Given the description of an element on the screen output the (x, y) to click on. 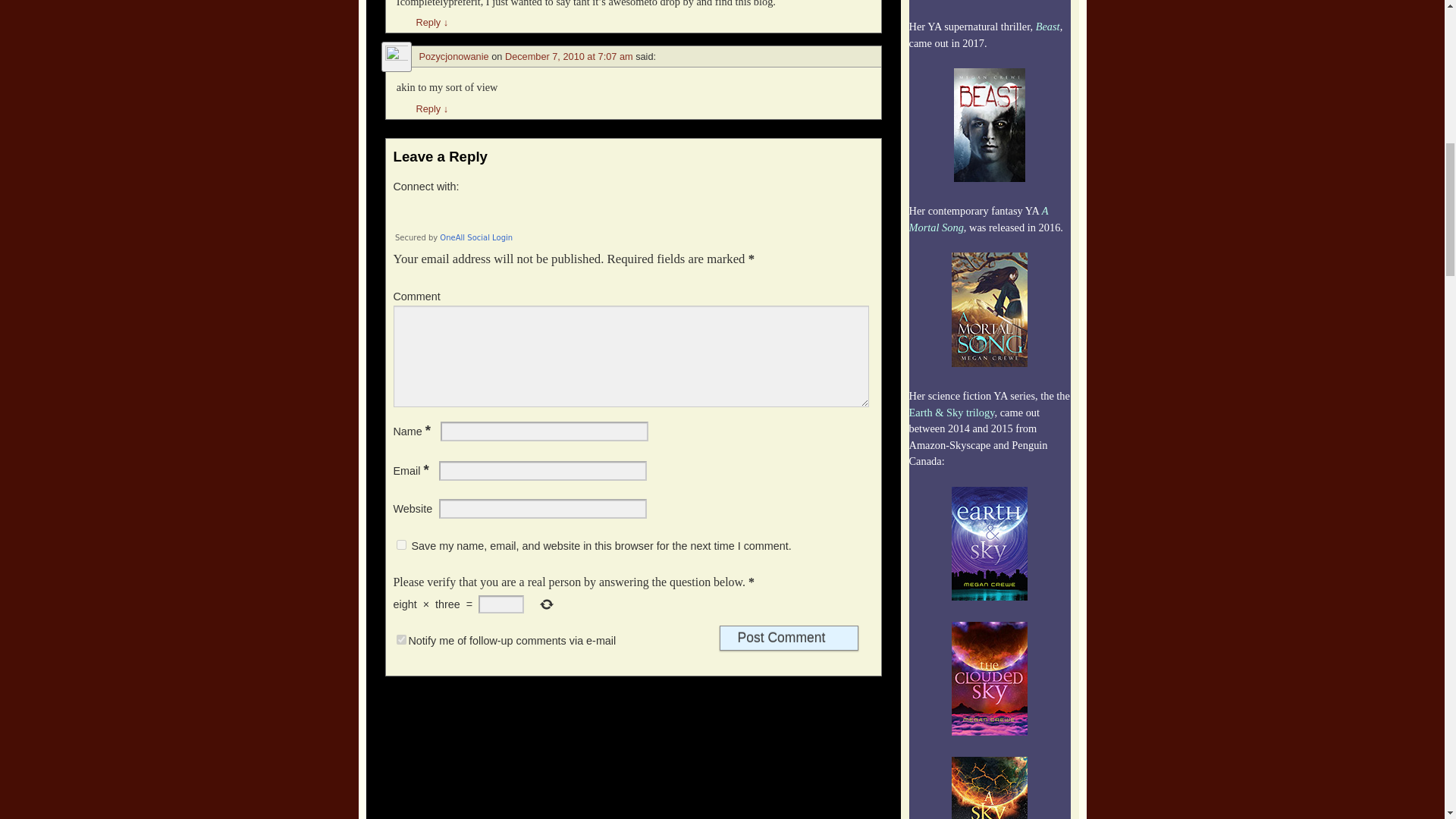
December 7, 2010 at 7:07 am (569, 56)
A Mortal Song (978, 218)
Pozycjonowanie (453, 56)
Beast (1047, 26)
Login with Social Networks (593, 221)
yes (401, 544)
Post Comment (788, 637)
Post Comment (788, 637)
